Given the description of an element on the screen output the (x, y) to click on. 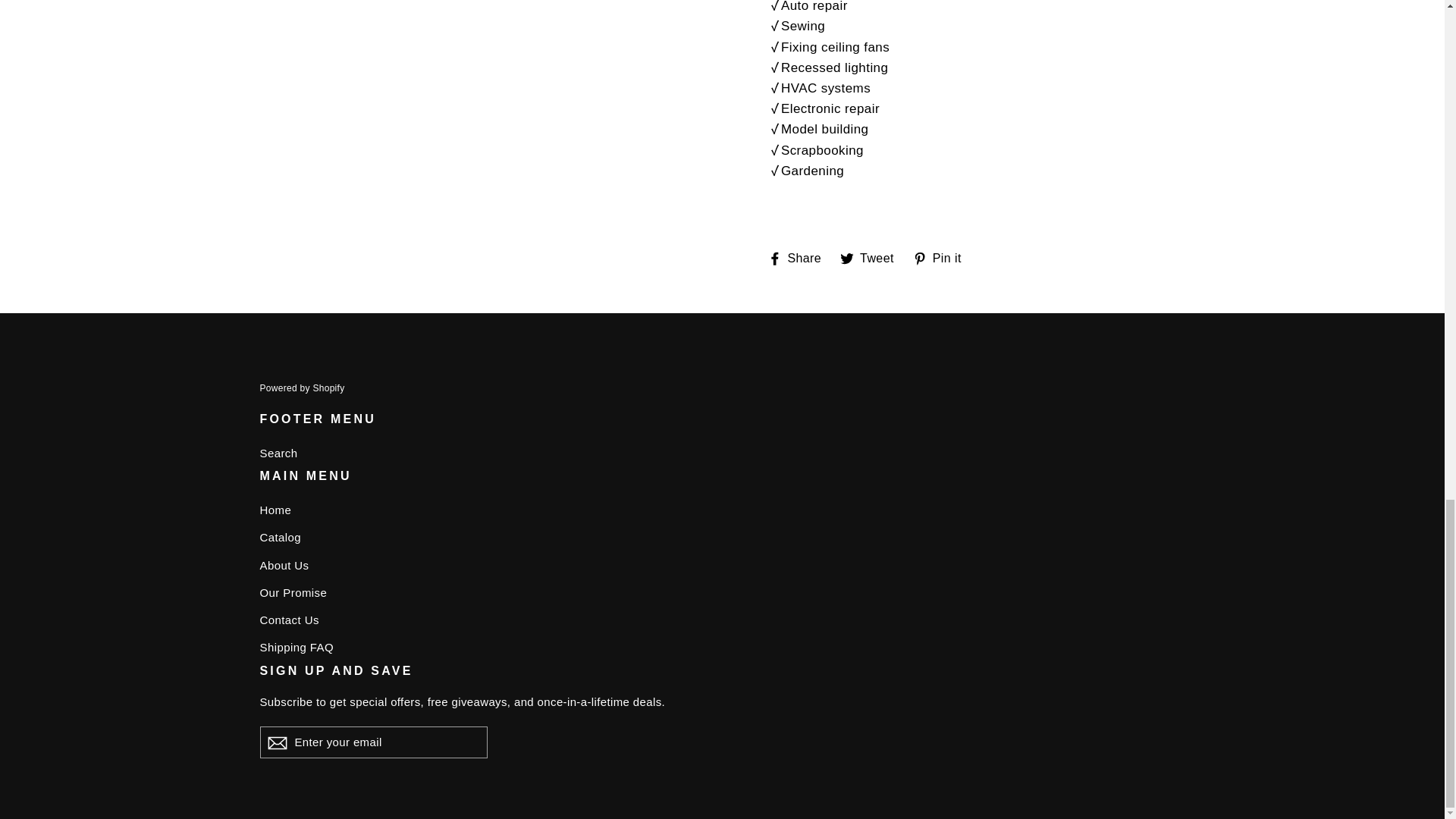
Home (799, 257)
About Us (722, 509)
Pin on Pinterest (722, 565)
Powered by Shopify (942, 257)
Contact Us (301, 388)
Our Promise (942, 257)
Tweet on Twitter (722, 620)
Search (722, 592)
Share on Facebook (872, 257)
Catalog (722, 453)
Shipping FAQ (872, 257)
